Given the description of an element on the screen output the (x, y) to click on. 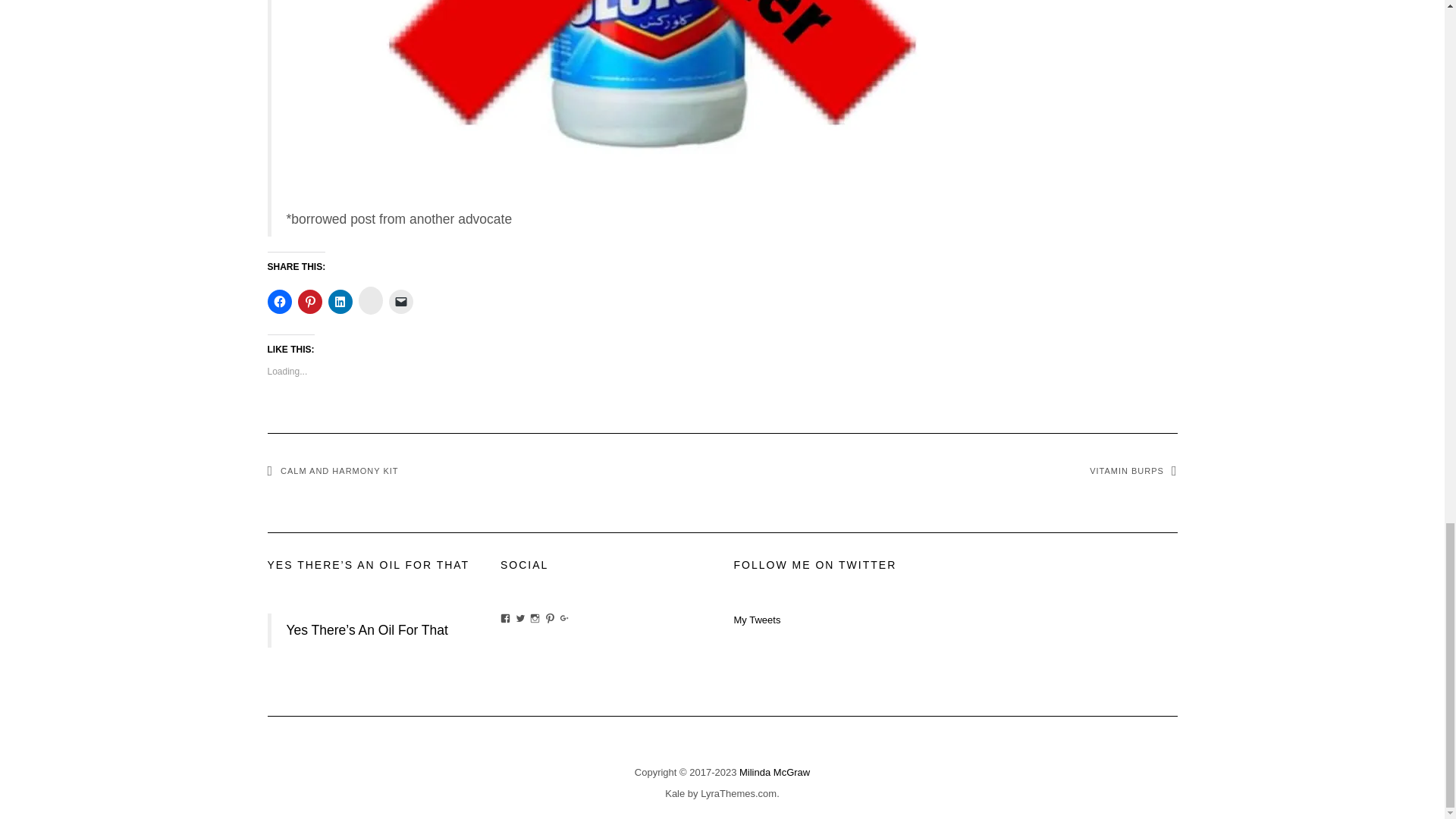
Click to share on Pinterest (309, 301)
Click to share on LinkedIn (339, 301)
Click to share on Facebook (278, 301)
Click to email a link to a friend (400, 301)
